Given the description of an element on the screen output the (x, y) to click on. 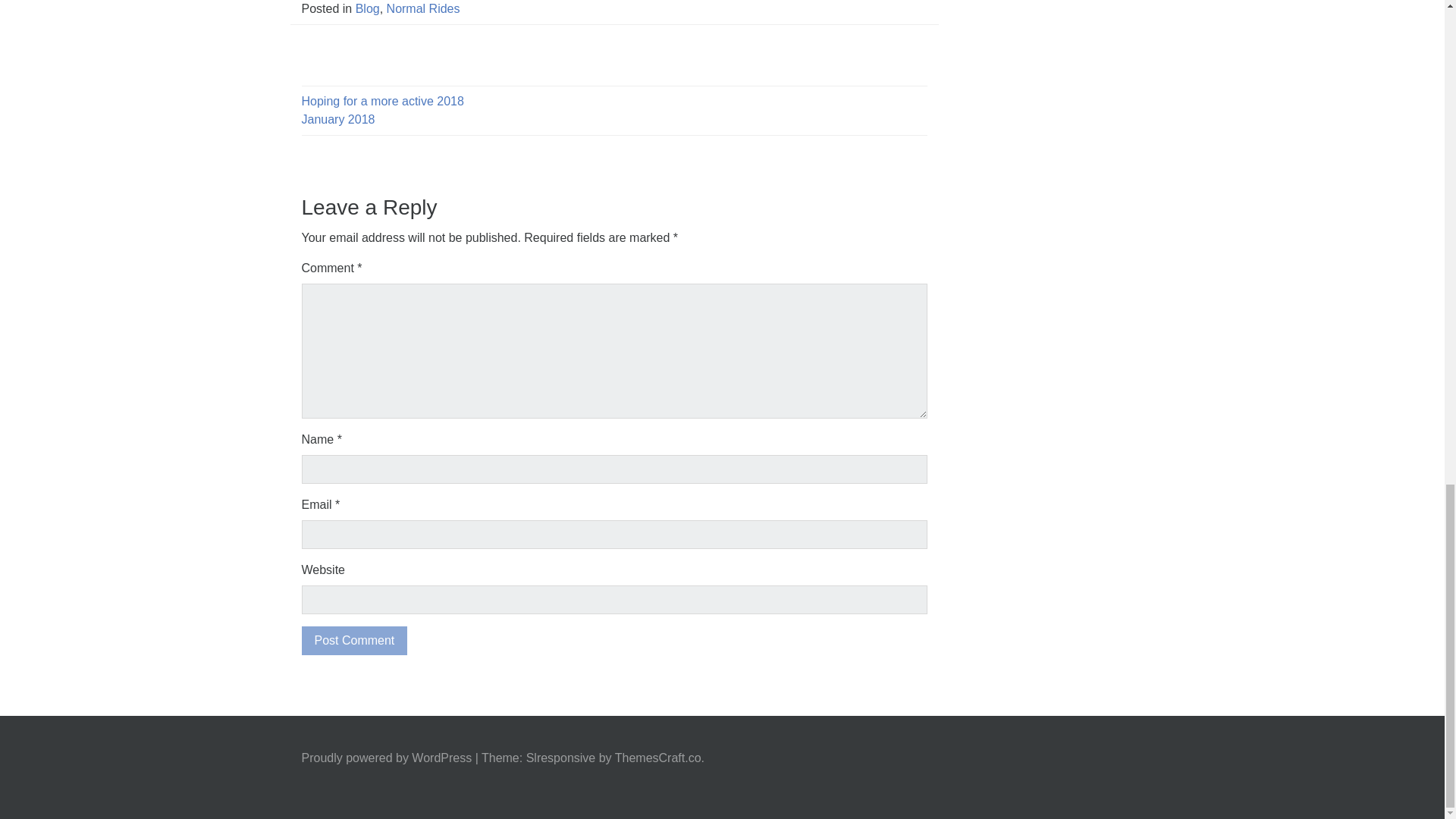
ThemesCraft.co (657, 757)
Blog (367, 8)
January 2018 (338, 119)
Post Comment (354, 640)
Hoping for a more active 2018 (382, 101)
Proudly powered by WordPress (386, 757)
Post Comment (354, 640)
Normal Rides (423, 8)
